Given the description of an element on the screen output the (x, y) to click on. 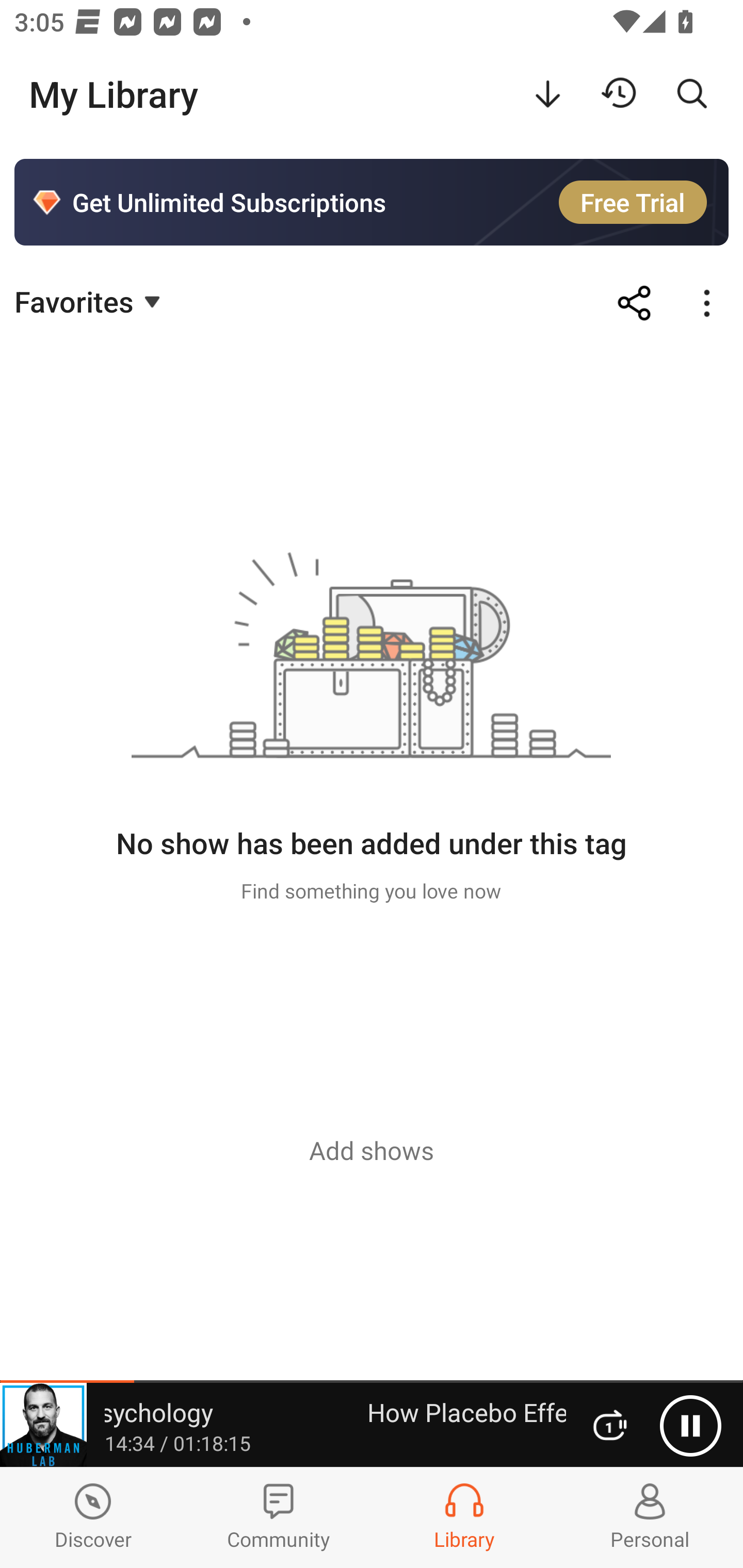
Get Unlimited Subscriptions Free Trial (371, 202)
Free Trial (632, 202)
Favorites (90, 300)
Add shows (371, 1150)
Pause (690, 1425)
Discover (92, 1517)
Community (278, 1517)
Library (464, 1517)
Profiles and Settings Personal (650, 1517)
